Given the description of an element on the screen output the (x, y) to click on. 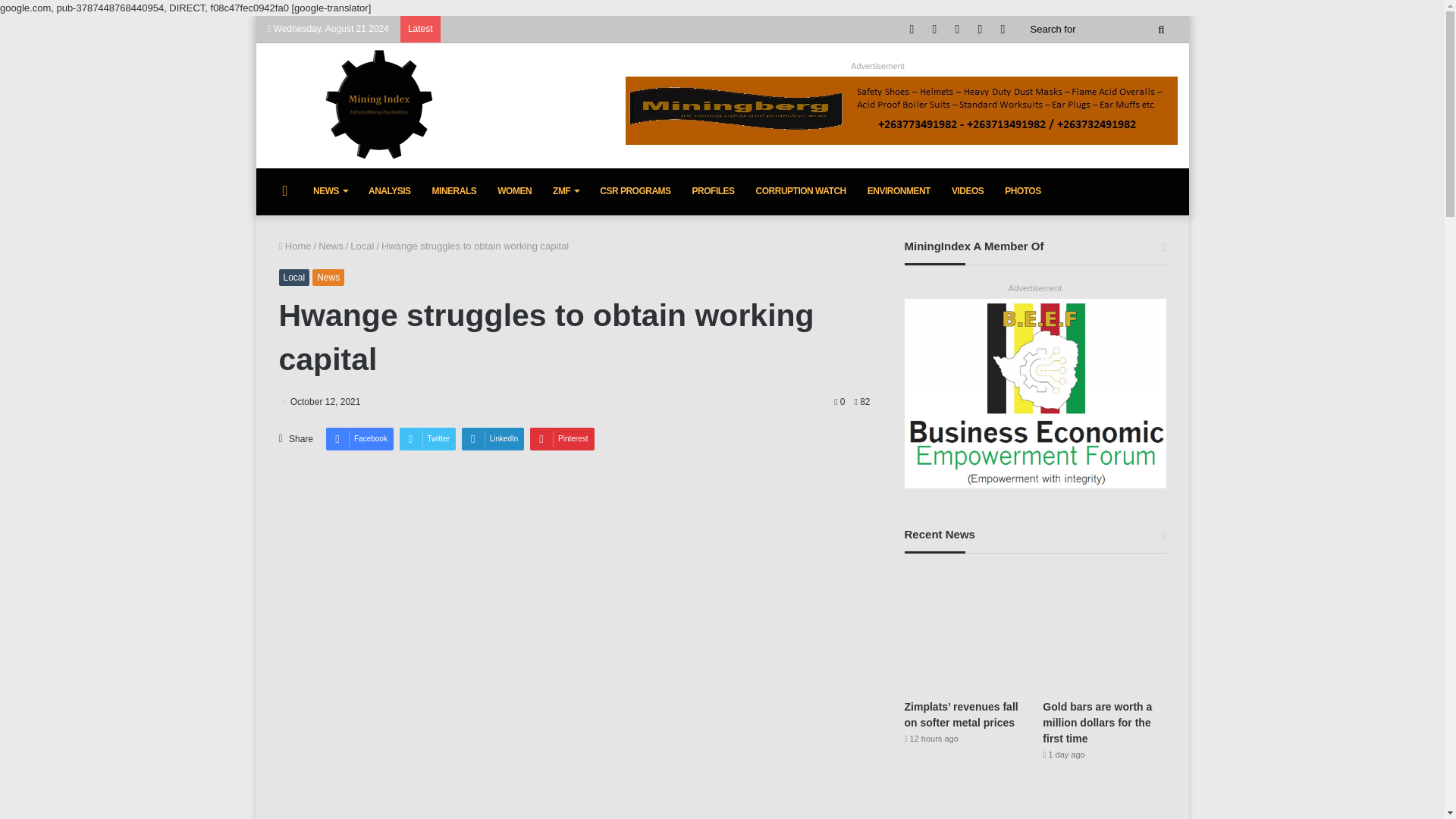
News (330, 245)
NEWS (330, 190)
ENVIRONMENT (898, 190)
Local (294, 277)
Search for (1099, 28)
Twitter (426, 438)
Search for (1161, 28)
Pinterest (561, 438)
PHOTOS (1022, 190)
VIDEOS (967, 190)
